Given the description of an element on the screen output the (x, y) to click on. 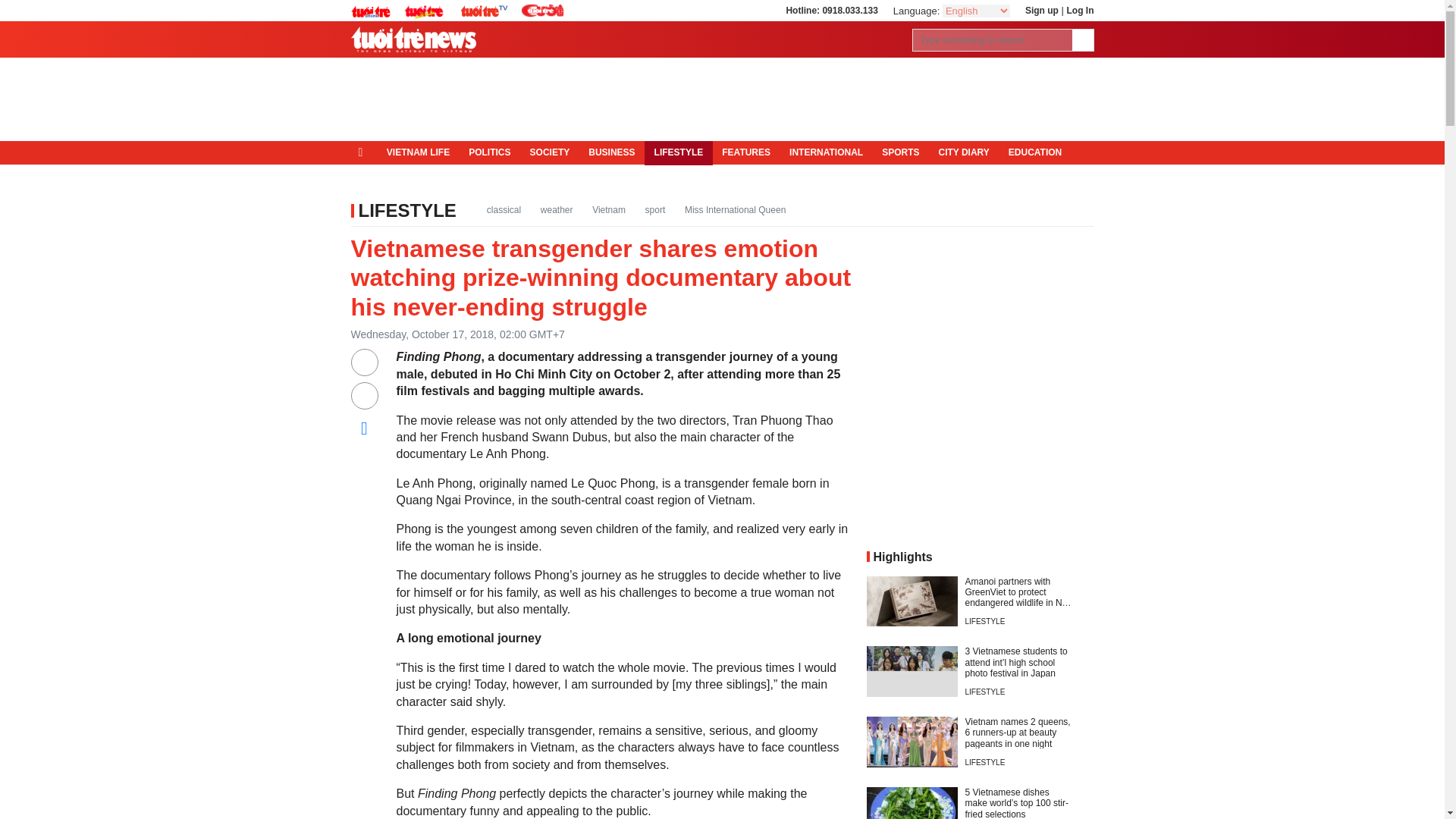
International (826, 152)
City Diary (963, 152)
Vietnam (608, 209)
Log In (1079, 9)
VIETNAM LIFE (417, 152)
LIFESTYLE (679, 152)
Features (746, 152)
LIFESTYLE (406, 209)
weather (556, 209)
classical (503, 209)
Miss International Queen (735, 209)
SOCIETY (549, 152)
sport (655, 209)
Vietname Life (417, 152)
EDUCATION (1034, 152)
